Given the description of an element on the screen output the (x, y) to click on. 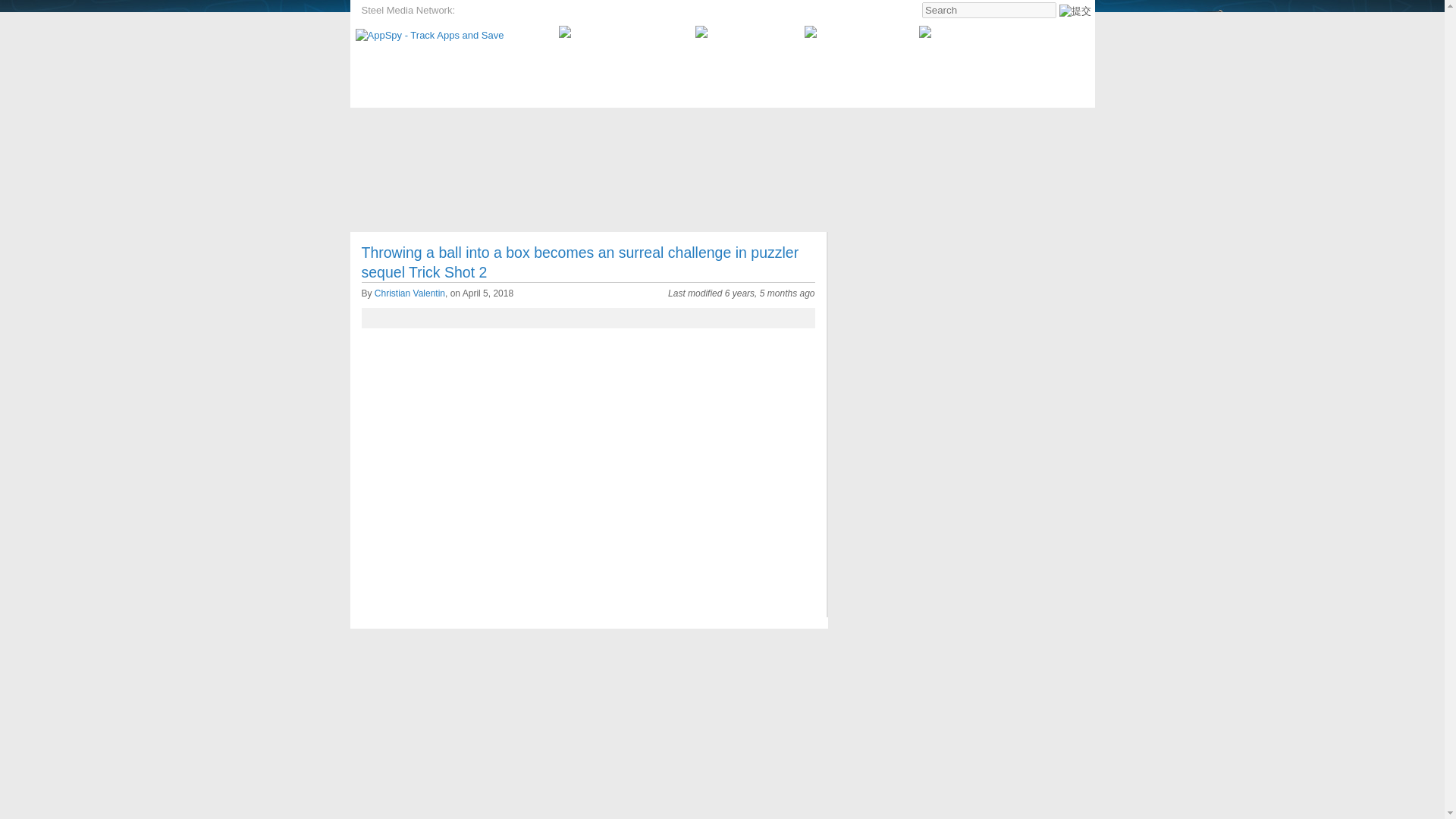
148Apps (544, 10)
News and Updates (698, 125)
Subscribe to our RSS feeds (985, 32)
AppSpy - Track Apps and Save (429, 35)
Features (853, 125)
Top Rated Apps (464, 125)
iPhone Qualityindex (613, 10)
AppSpy Home (390, 125)
Pocket Gamer (489, 10)
